Given the description of an element on the screen output the (x, y) to click on. 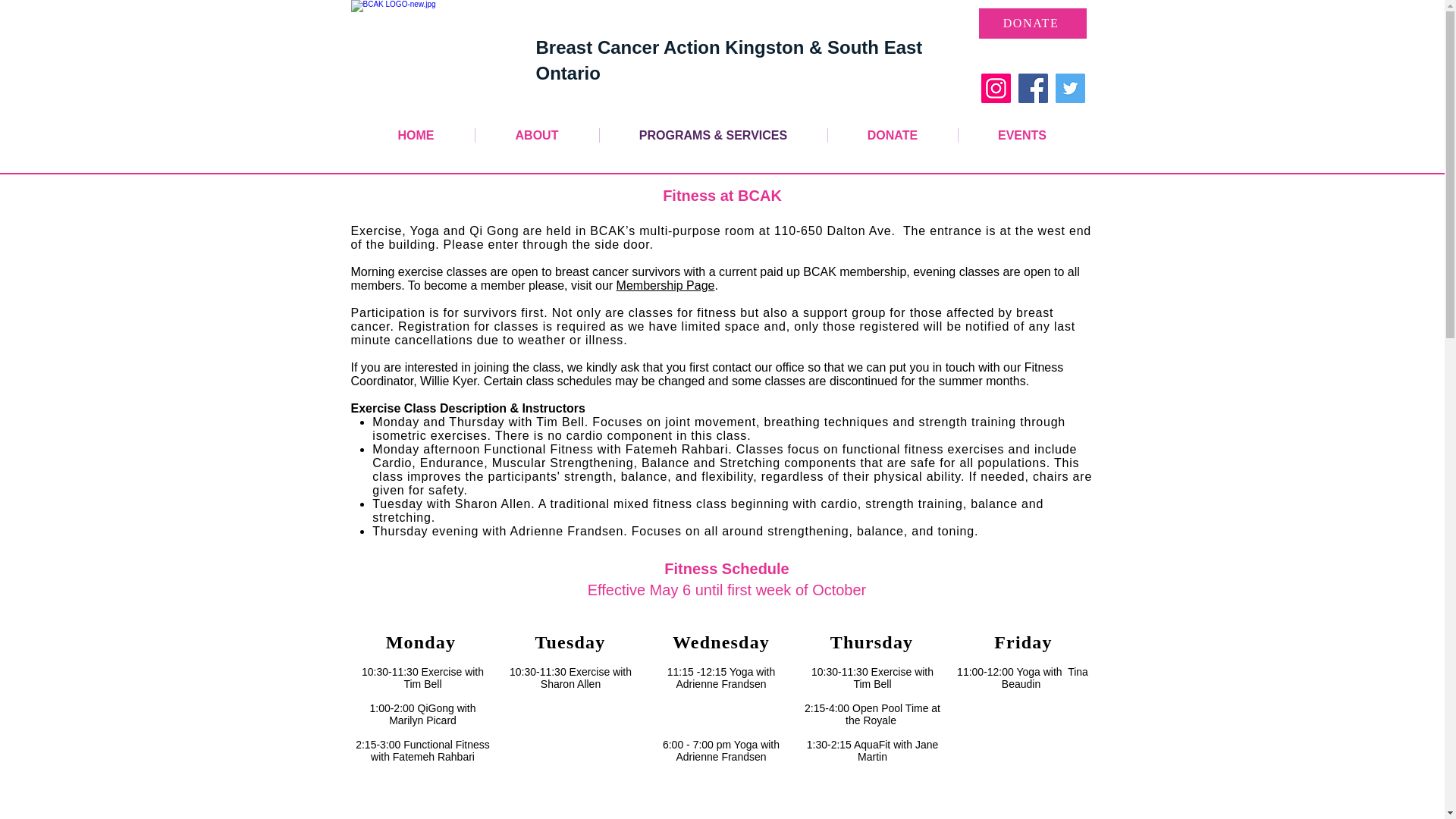
EVENTS (1022, 134)
ABOUT (536, 134)
HOME (416, 134)
DONATE (1032, 23)
Membership Page (664, 285)
DONATE (893, 134)
